Given the description of an element on the screen output the (x, y) to click on. 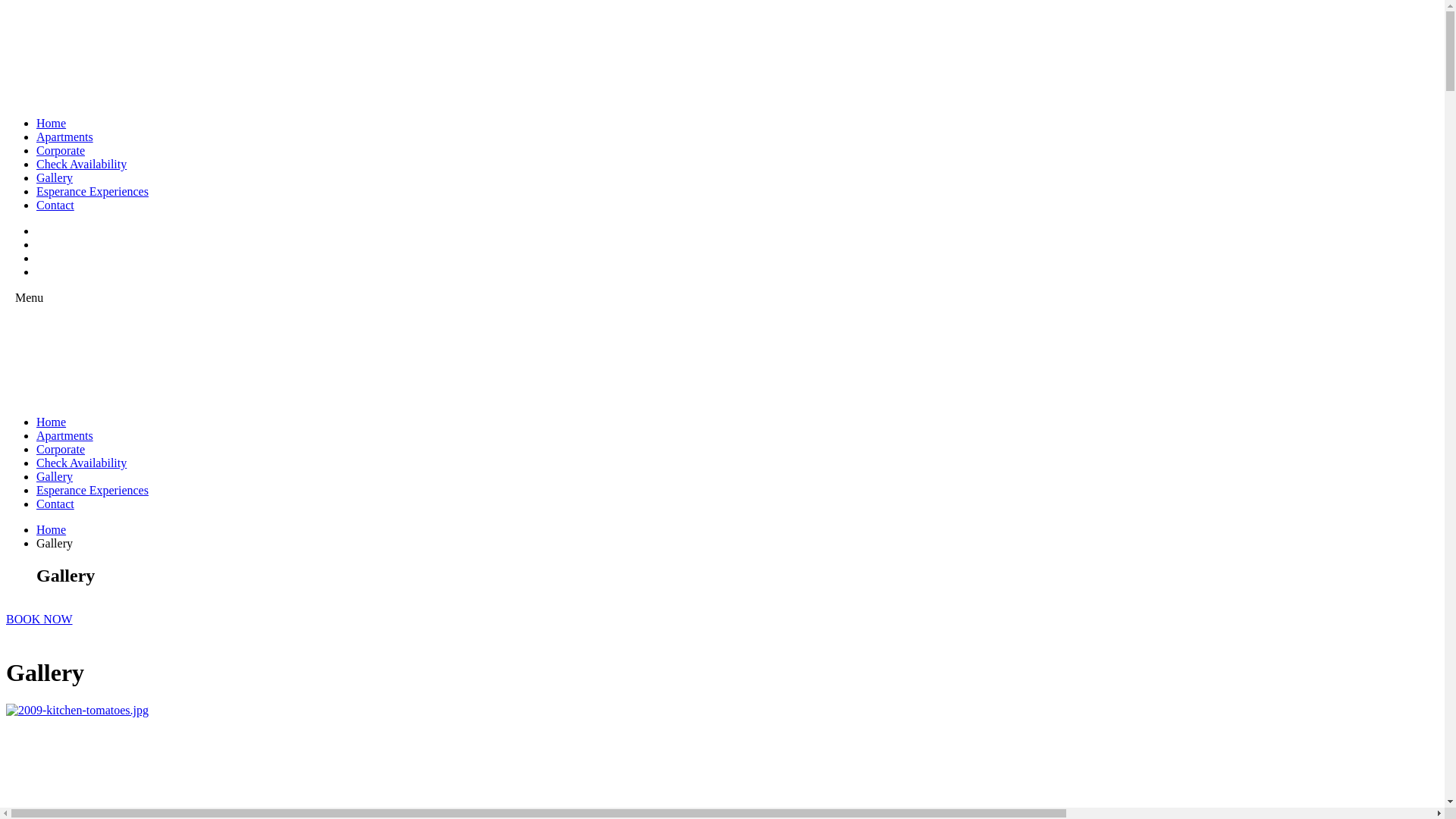
Apartments Element type: text (64, 136)
Home Element type: text (50, 421)
Corporate Element type: text (60, 150)
Gallery Element type: text (54, 476)
Contact Element type: text (55, 503)
Corporate Element type: text (60, 448)
Check Availability Element type: text (81, 163)
Home Element type: text (50, 529)
Esperance Experiences Element type: text (92, 191)
Esperance Experiences Element type: text (92, 489)
Gallery Element type: text (54, 177)
Contact Element type: text (55, 204)
Check Availability Element type: text (81, 462)
BOOK NOW Element type: text (39, 618)
Home Element type: text (50, 122)
Apartments Element type: text (64, 435)
